Given the description of an element on the screen output the (x, y) to click on. 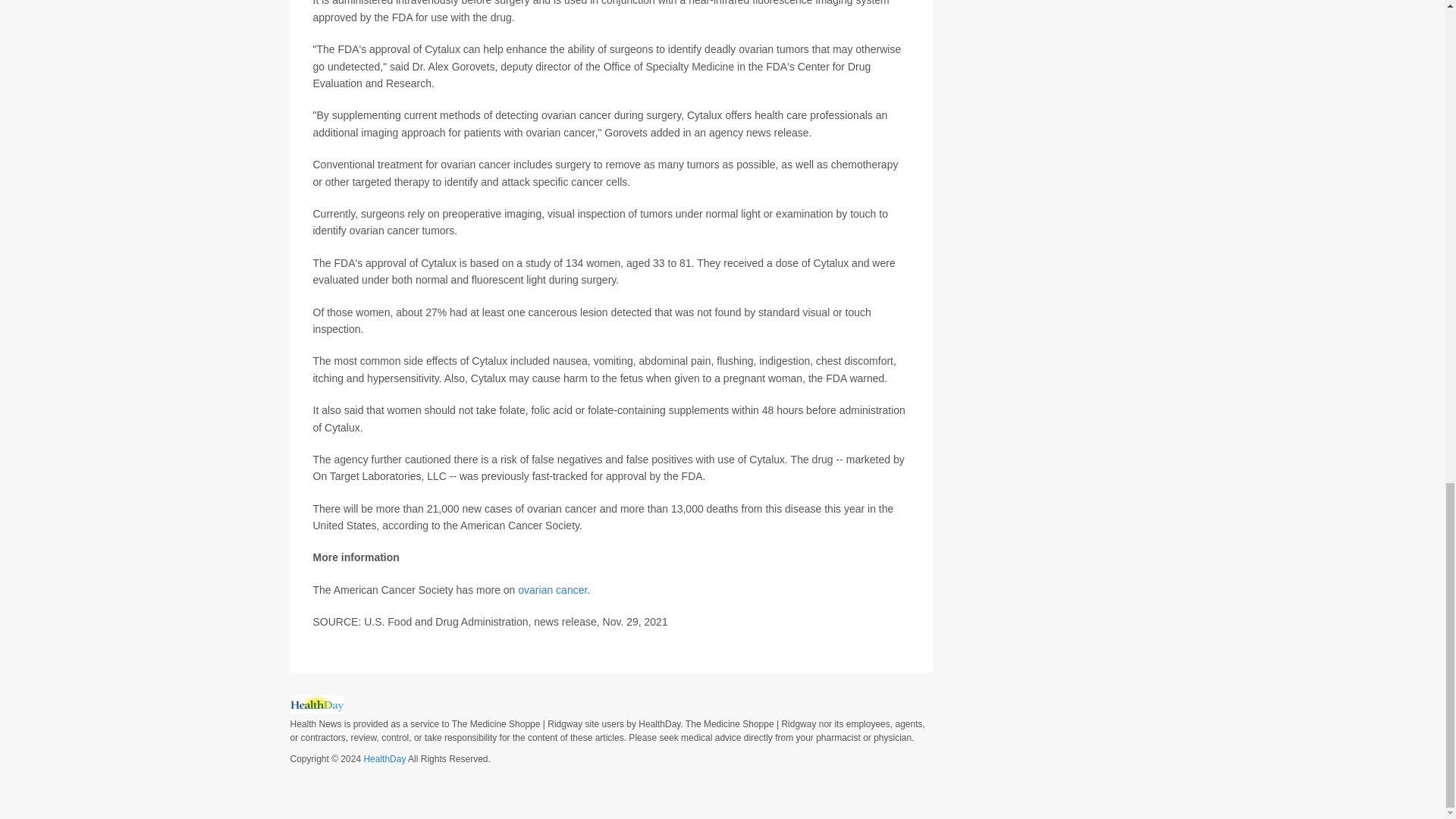
ovarian cancer (552, 589)
HealthDay (384, 758)
